Given the description of an element on the screen output the (x, y) to click on. 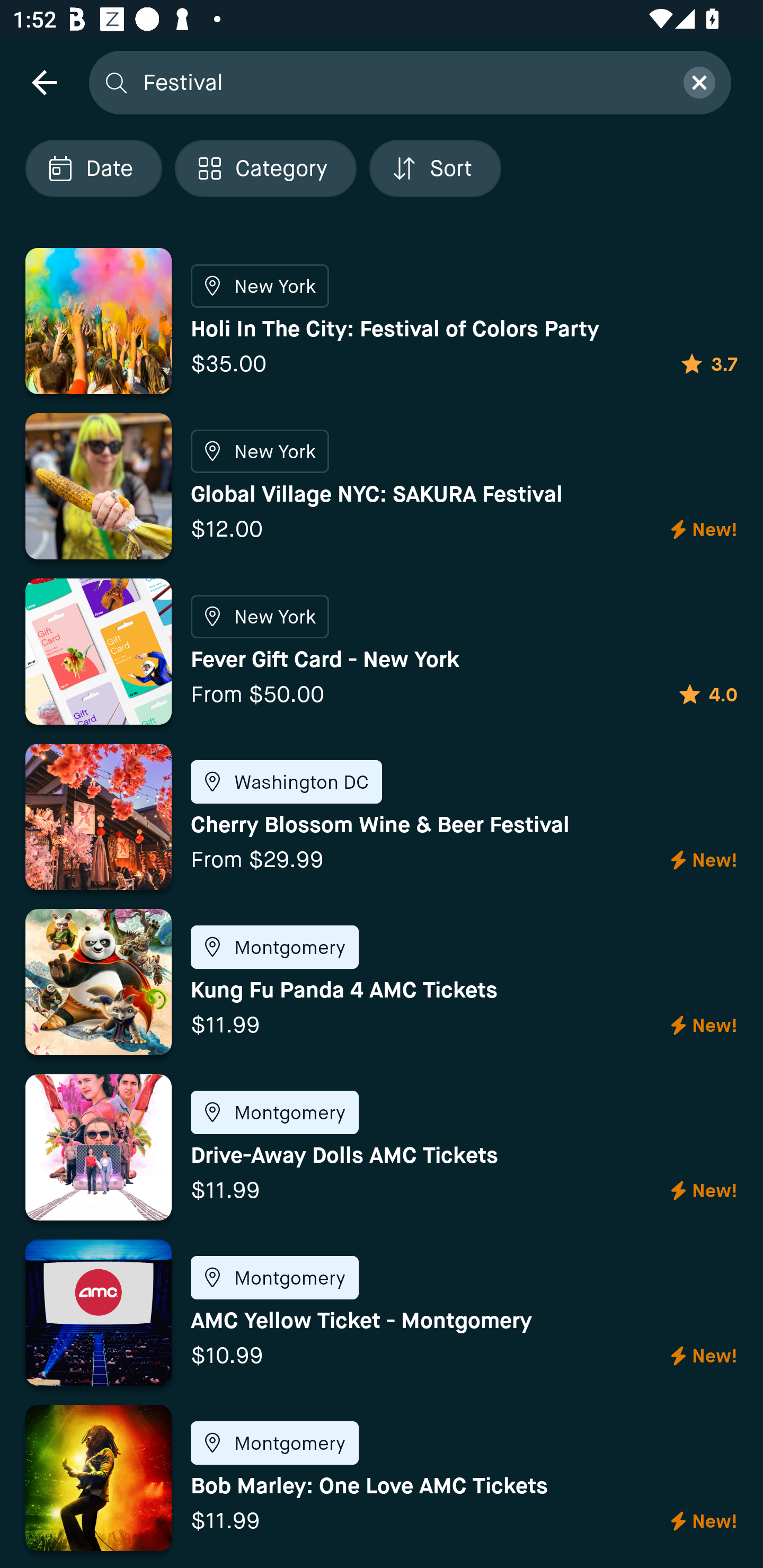
navigation icon (44, 81)
Festival (402, 81)
Localized description Date (93, 168)
Localized description Category (265, 168)
Localized description Sort (435, 168)
